Given the description of an element on the screen output the (x, y) to click on. 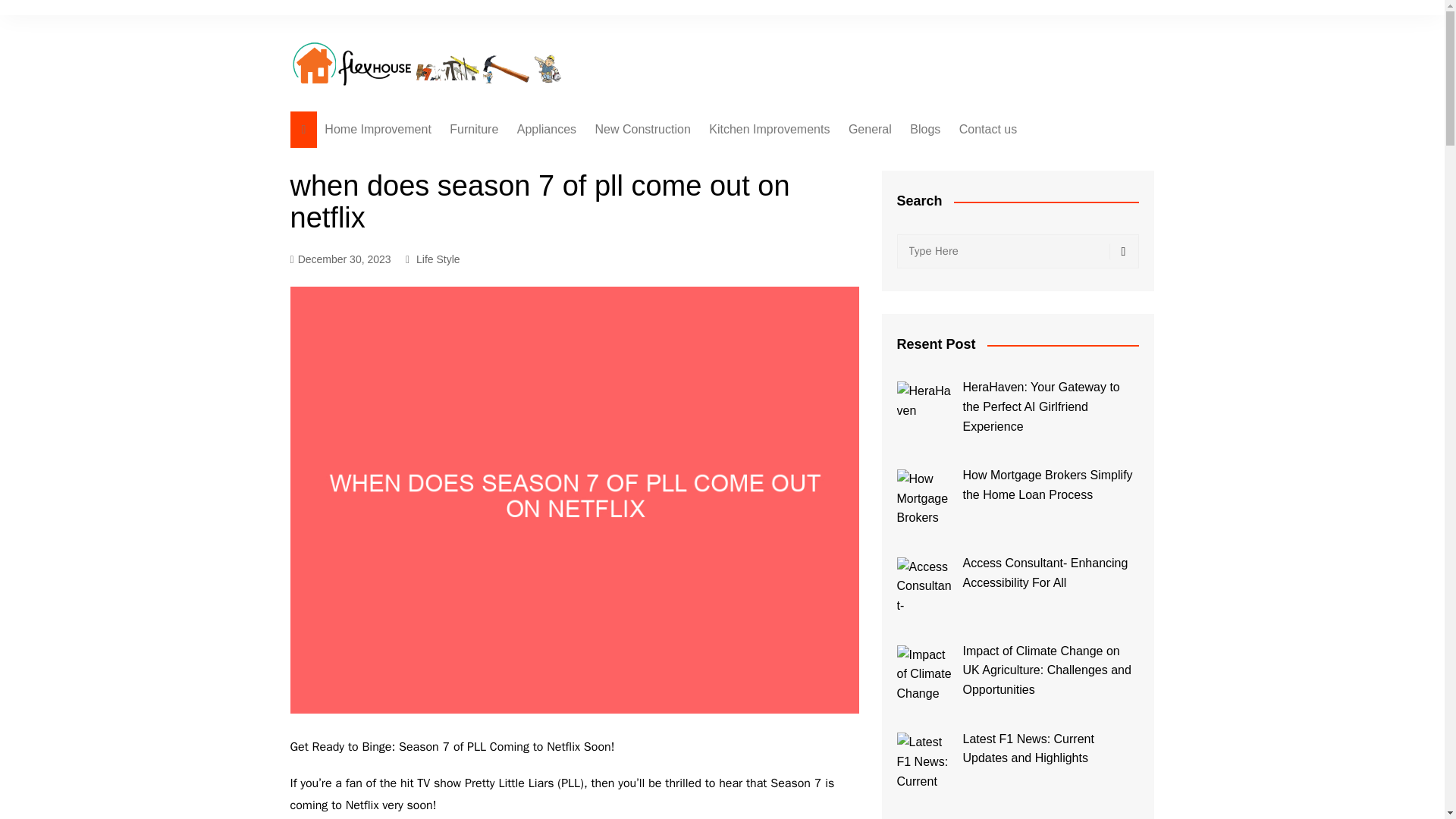
New Construction (643, 129)
General (870, 129)
Life Style (438, 258)
Write for US (1035, 160)
Home Inspections (671, 160)
Kitchen Improvements (769, 129)
Interior Design and Decorating (525, 166)
Appliances (546, 129)
DIY (671, 348)
Home Security (593, 248)
Blogs (924, 129)
How Mortgage Brokers Simplify the Home Loan Process (924, 497)
Moving (671, 298)
Real Estate Business (671, 273)
